Given the description of an element on the screen output the (x, y) to click on. 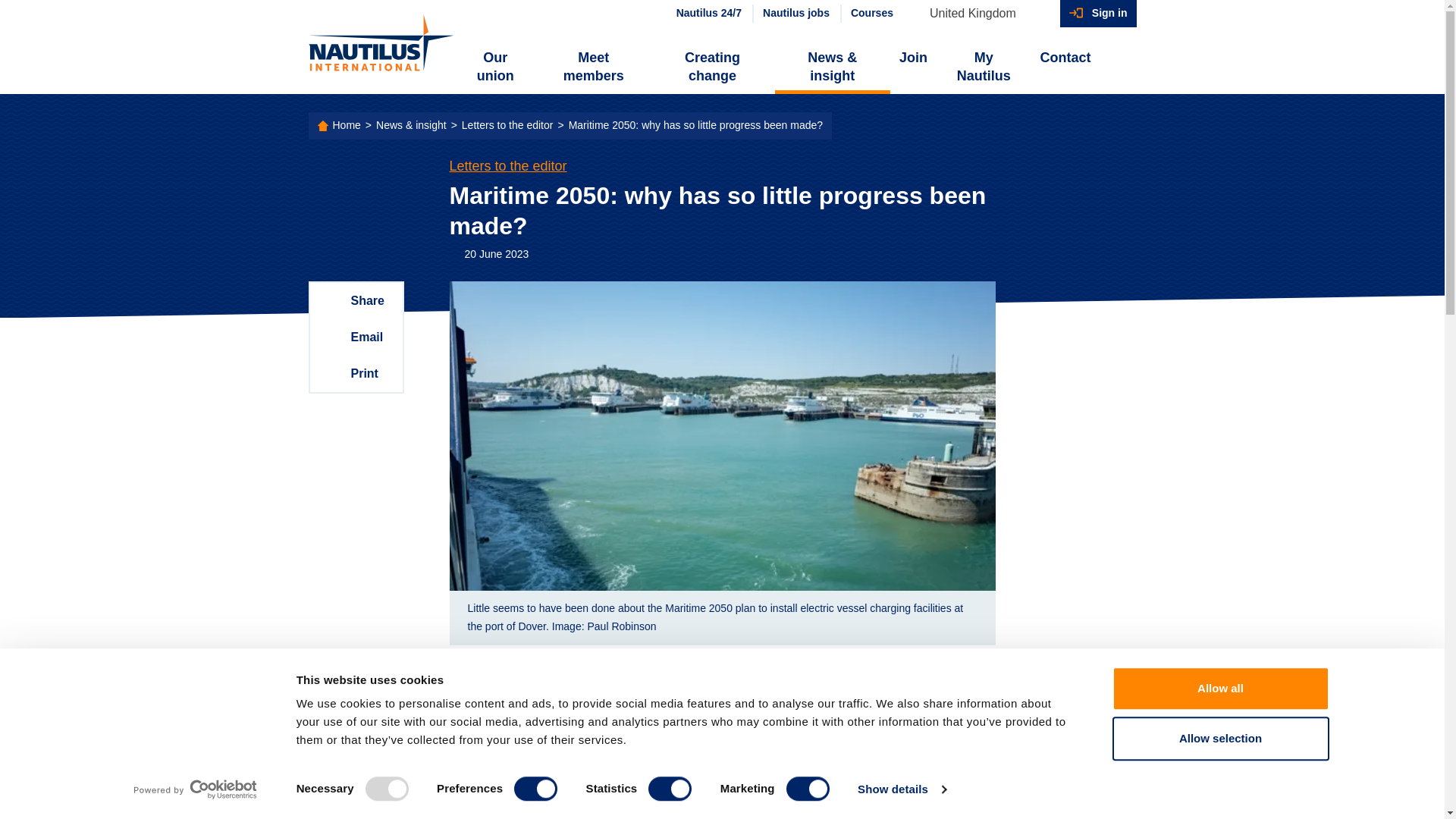
Show details (900, 789)
